Given the description of an element on the screen output the (x, y) to click on. 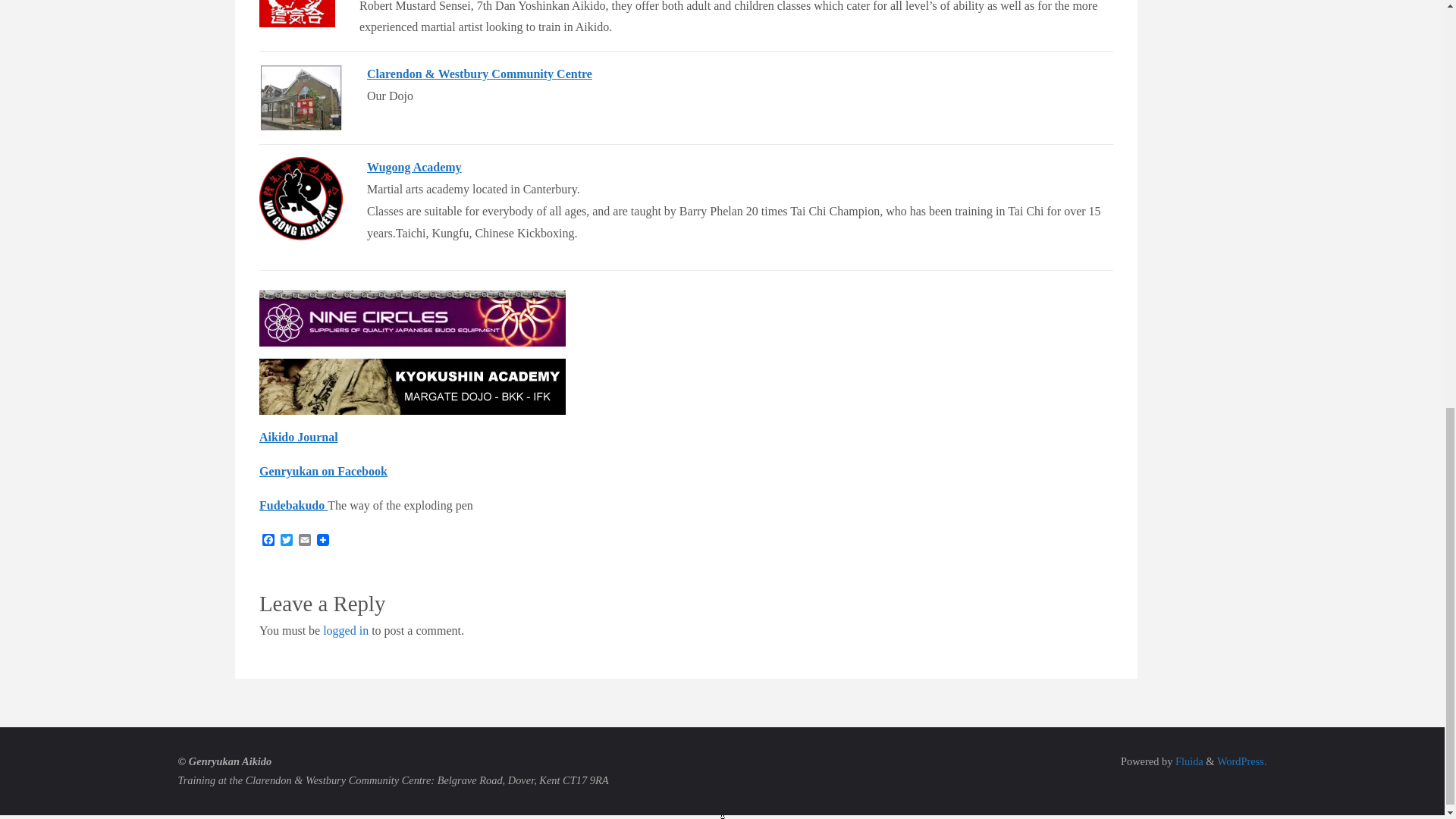
meikyokai (296, 13)
Email (304, 540)
Fluida WordPress Theme by Cryout Creations (1187, 761)
Wugong (300, 198)
Twitter (286, 540)
CAWCA (300, 97)
Semantic Personal Publishing Platform (1241, 761)
Facebook (268, 540)
